Given the description of an element on the screen output the (x, y) to click on. 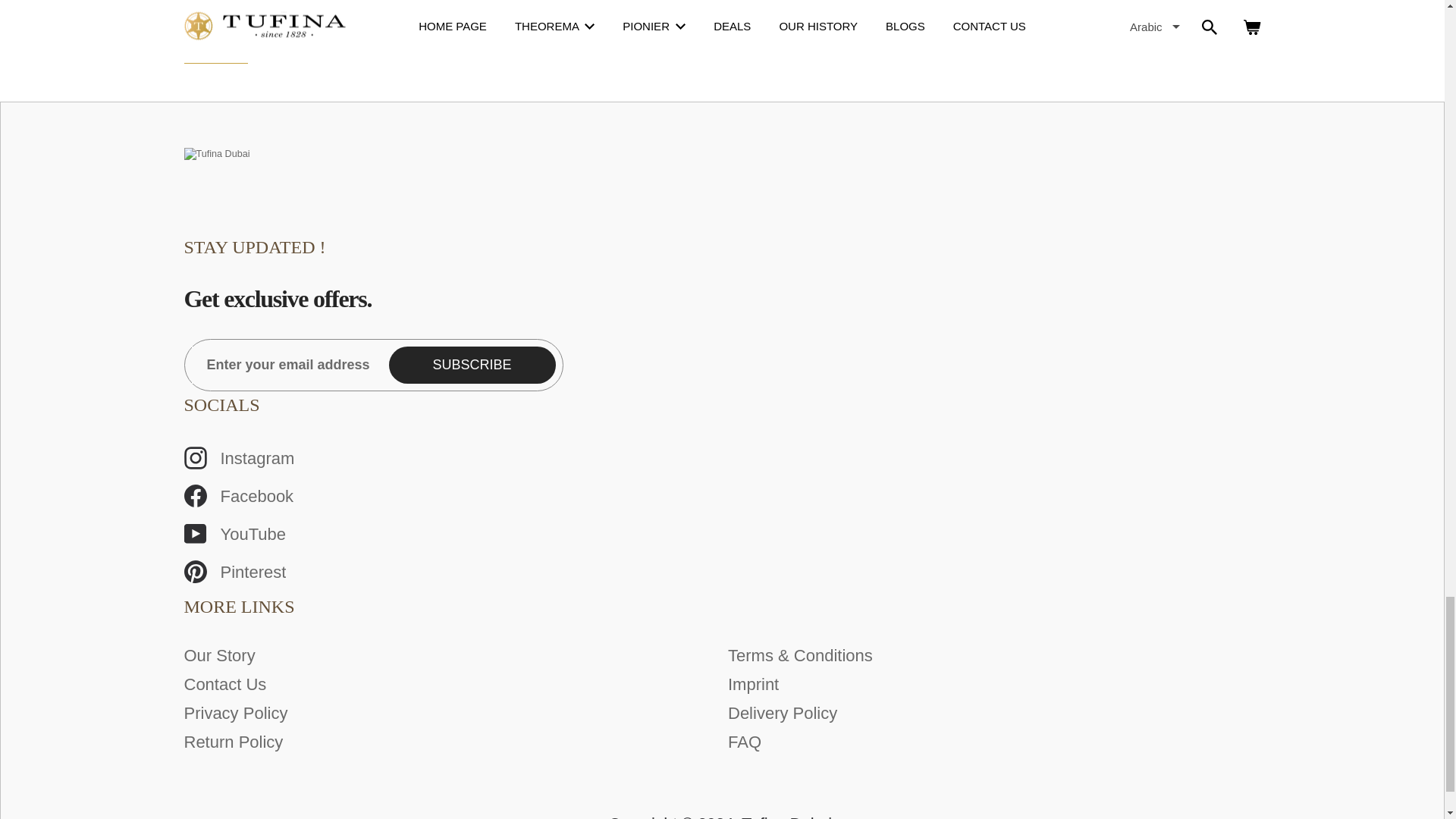
Tufina Dubai on Facebook (716, 496)
Tufina Dubai on Pinterest (716, 571)
Tufina Dubai on YouTube (716, 533)
Tufina Dubai on Instagram (716, 458)
